Given the description of an element on the screen output the (x, y) to click on. 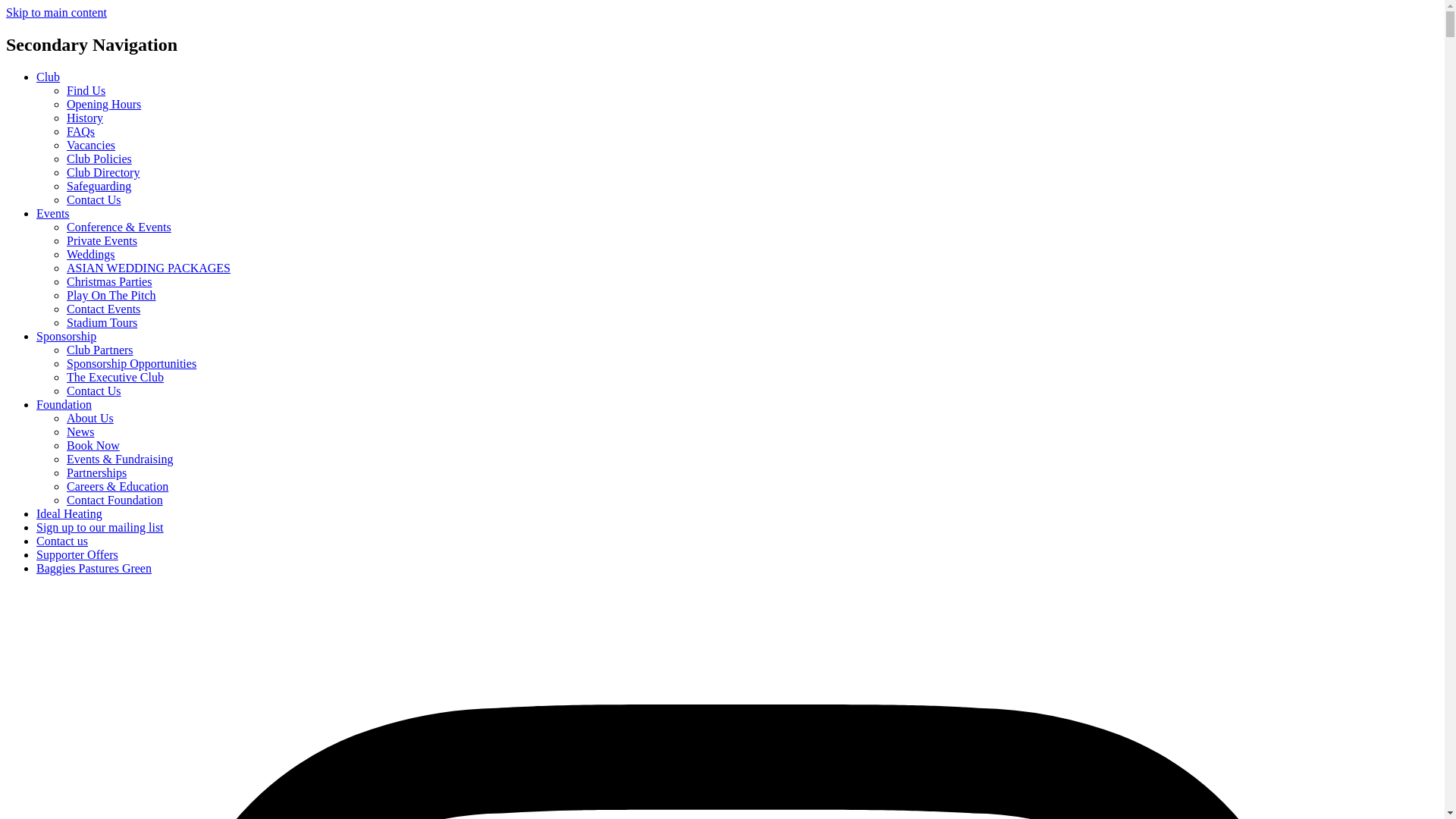
Play on the hallowed turf (110, 295)
Club (47, 76)
Contact the Events Team (102, 308)
Contact Foundation (114, 499)
Vacancies (90, 144)
Foundation (63, 404)
Opening Hours (103, 103)
Partnerships (96, 472)
FAQs (80, 131)
Sign up to our mailing list (99, 526)
